Given the description of an element on the screen output the (x, y) to click on. 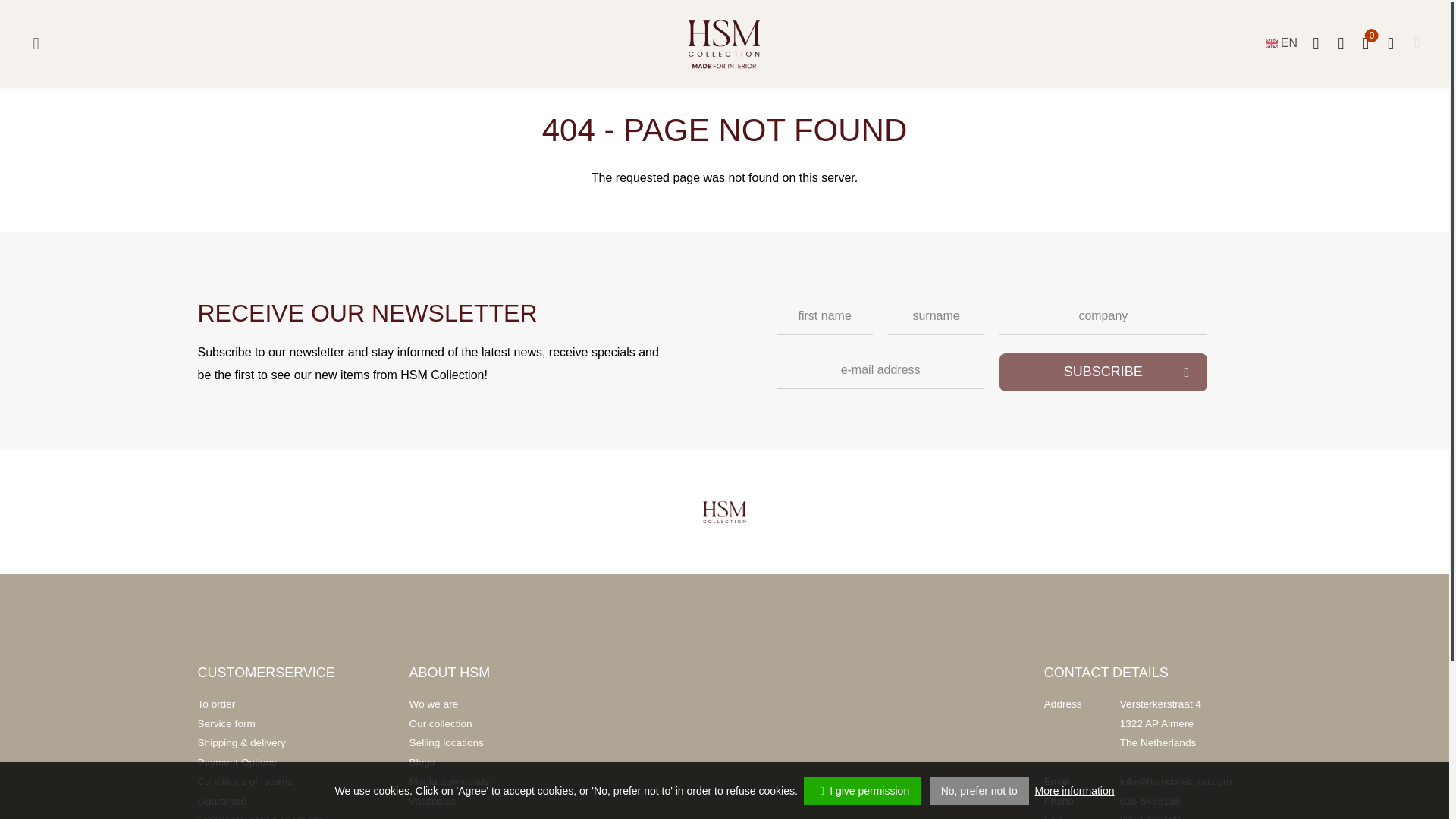
More information (1075, 790)
EN (1280, 43)
No, prefer not to (979, 790)
Wishlist (1341, 43)
0 (1366, 43)
I give permission (861, 790)
Login (1389, 43)
English (1271, 42)
Cart (1366, 43)
Scanner (1315, 43)
